Given the description of an element on the screen output the (x, y) to click on. 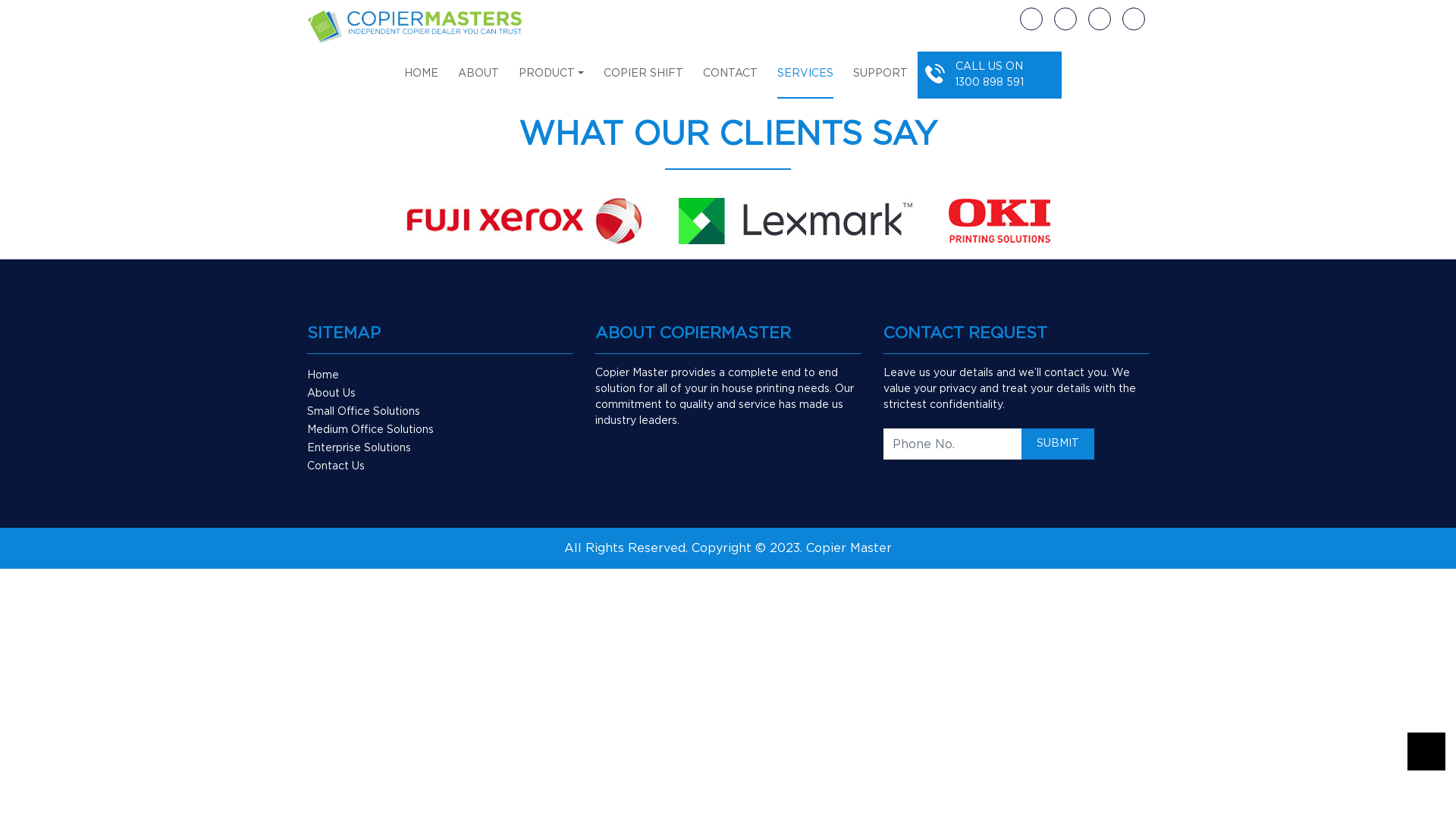
HOME Element type: text (421, 81)
About Us Element type: text (331, 393)
Medium Office Solutions Element type: text (370, 429)
Small Office Solutions Element type: text (363, 411)
PRODUCT Element type: text (550, 81)
Enterprise Solutions Element type: text (359, 447)
CONTACT Element type: text (729, 81)
Contact Us Element type: text (335, 466)
ABOUT Element type: text (478, 81)
SUPPORT Element type: text (880, 81)
SERVICES Element type: text (805, 81)
Home Element type: text (322, 375)
SUBMIT Element type: text (1057, 443)
CALL US ON
1300 898 591 Element type: text (989, 75)
COPIER SHIFT Element type: text (643, 81)
